Given the description of an element on the screen output the (x, y) to click on. 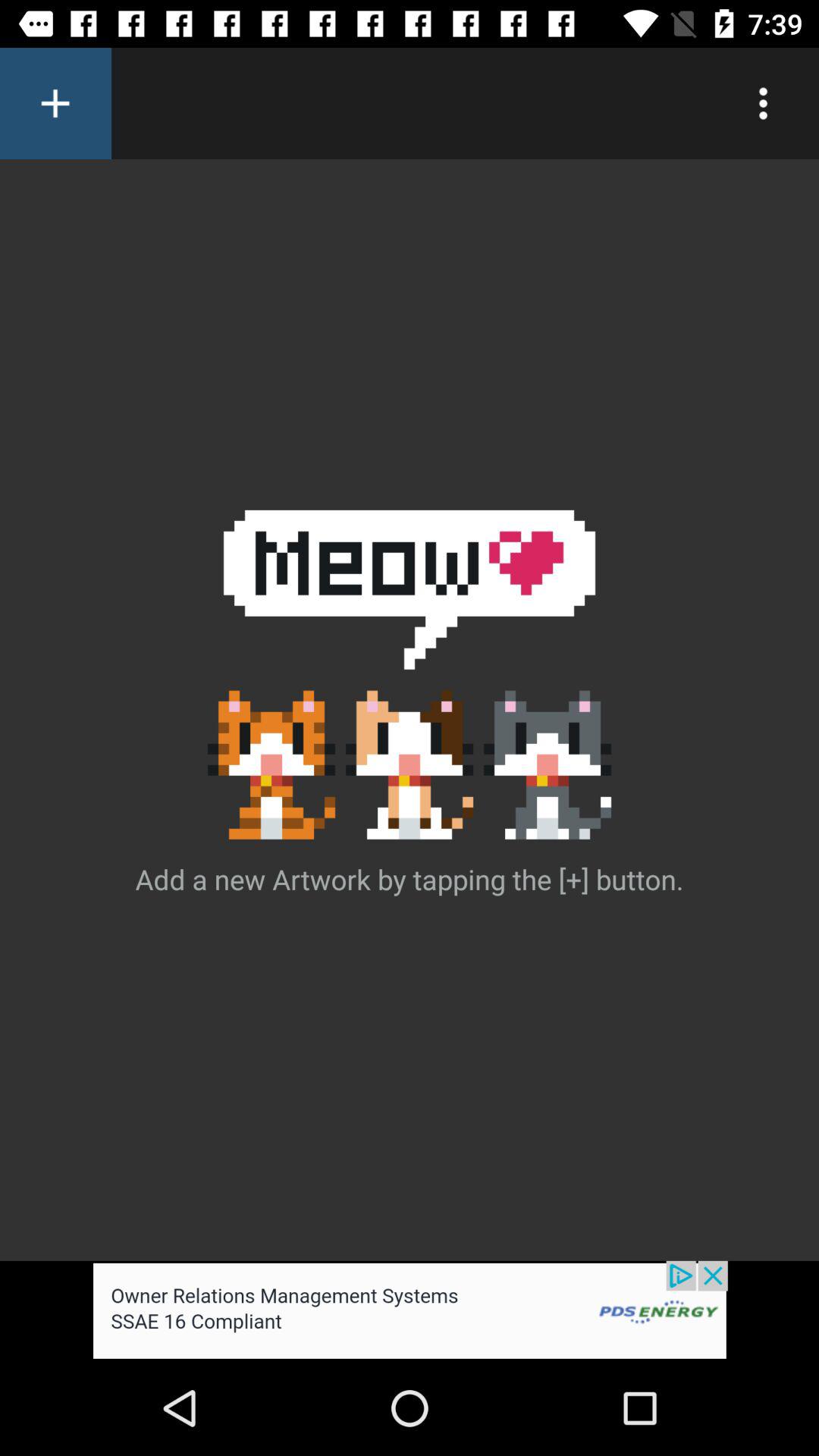
show options (763, 103)
